Given the description of an element on the screen output the (x, y) to click on. 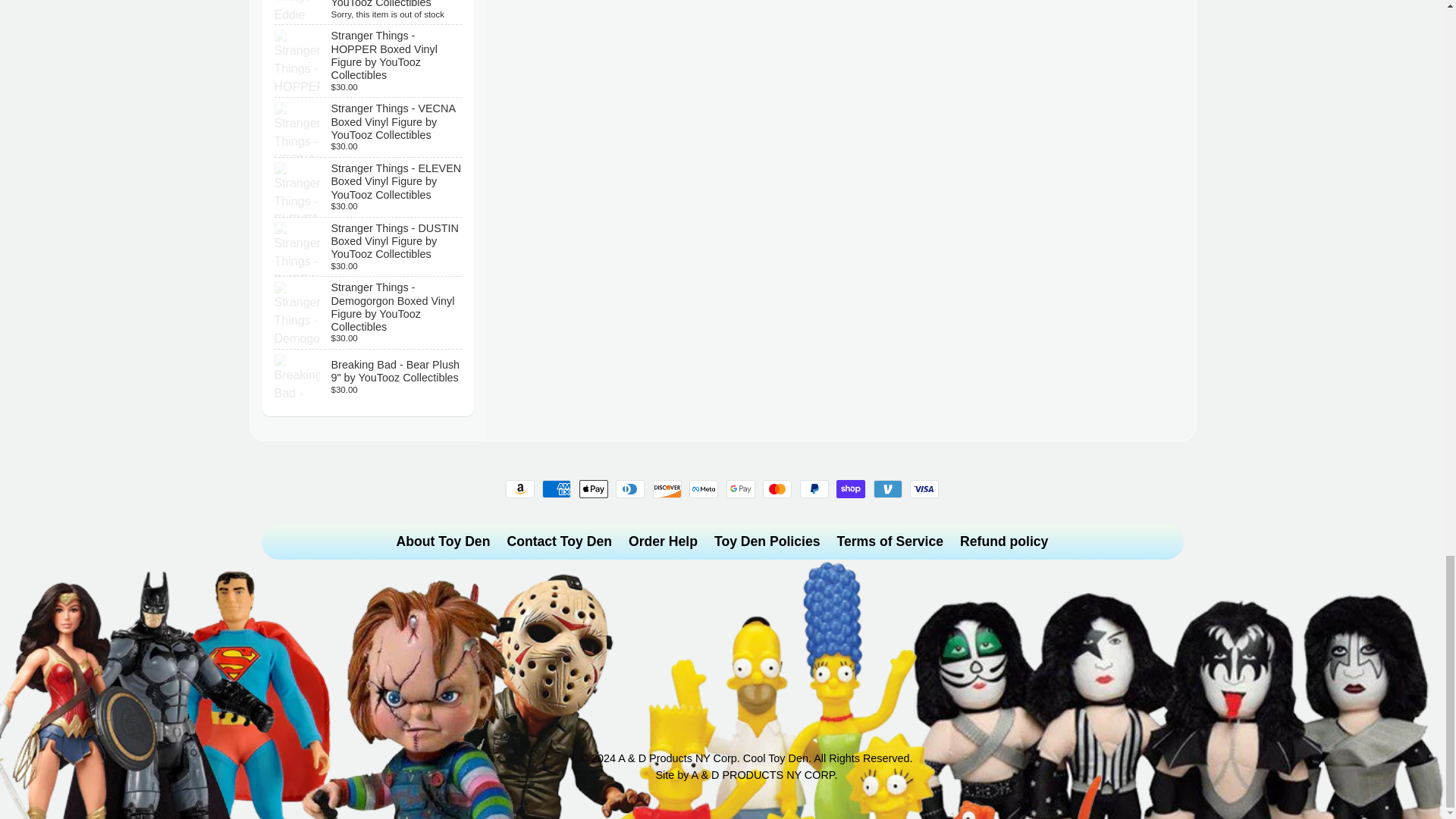
PayPal (813, 488)
Meta Pay (702, 488)
Apple Pay (593, 488)
Diners Club (630, 488)
Visa (924, 488)
Mastercard (777, 488)
Google Pay (740, 488)
Amazon (519, 488)
